Given the description of an element on the screen output the (x, y) to click on. 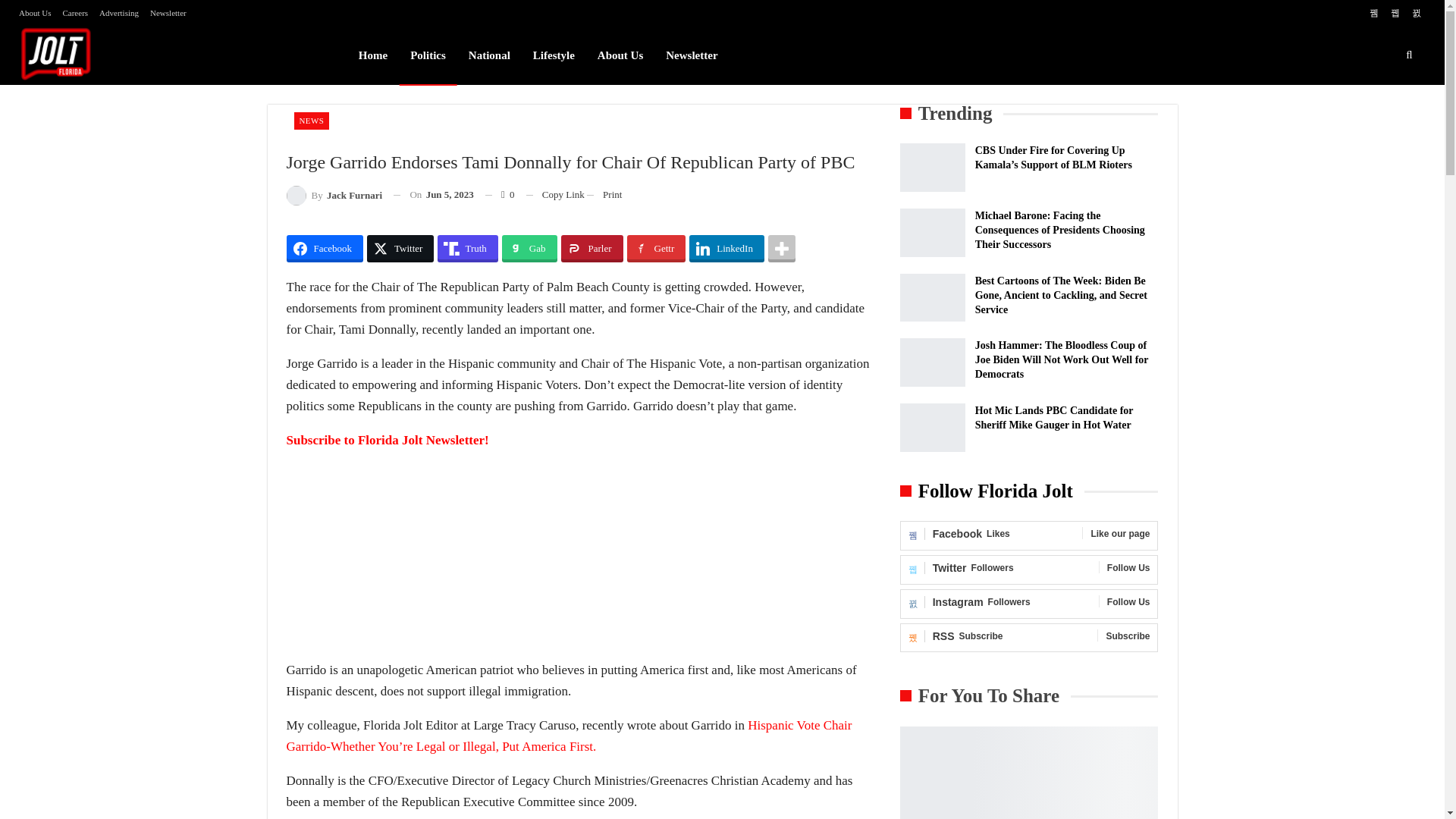
Share on Parler (591, 248)
Politics (427, 55)
Careers (74, 12)
Share on Facebook (325, 248)
Share on Truth (467, 248)
Twitter (399, 248)
Truth (467, 248)
Newsletter (167, 12)
0 (499, 194)
Facebook (325, 248)
Share on More Button (781, 248)
Lifestyle (553, 55)
Share on Twitter (399, 248)
Advertising (118, 12)
Browse Author Articles (334, 195)
